Given the description of an element on the screen output the (x, y) to click on. 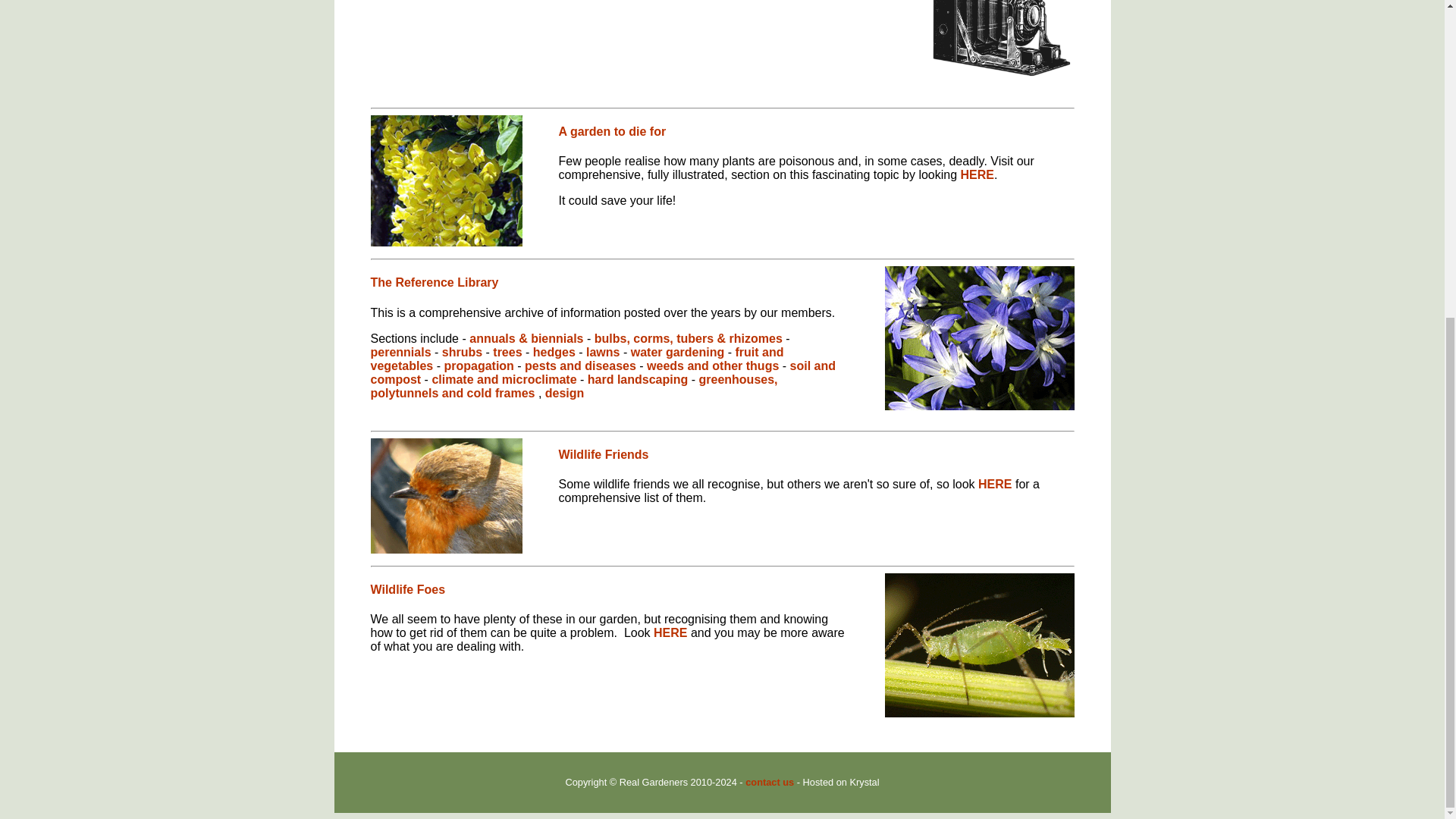
Wildlife Foes (407, 589)
HERE (977, 174)
design (564, 392)
HERE (670, 632)
pests and diseases (580, 365)
perennials (399, 351)
water gardening (677, 351)
weeds and other thugs (712, 365)
HERE (994, 483)
trees (507, 351)
greenhouses, polytunnels and cold frames (573, 386)
Wildlife Friends (602, 454)
lawns (603, 351)
The Reference Library (433, 282)
contact us (769, 781)
